Given the description of an element on the screen output the (x, y) to click on. 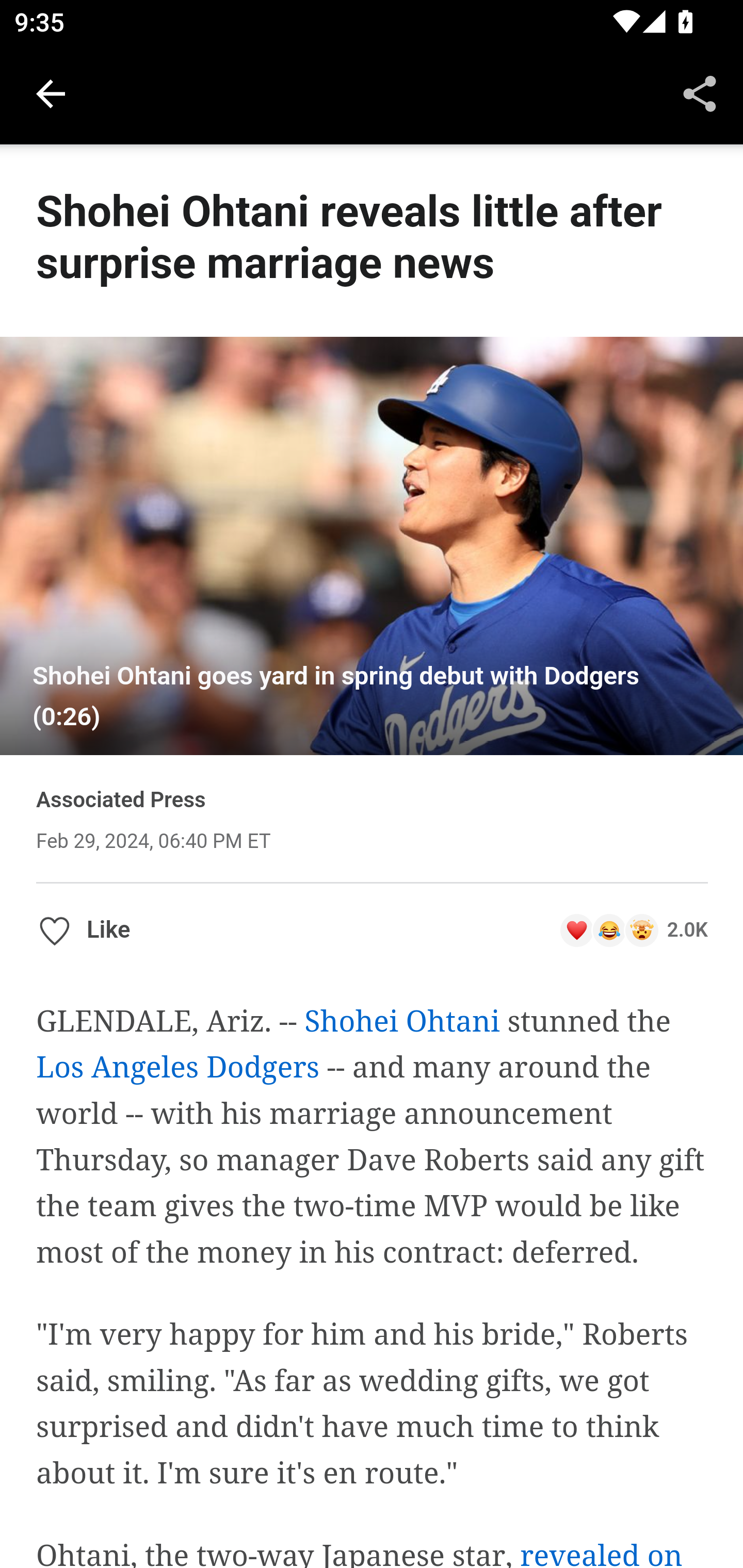
Navigate up (50, 93)
Share (699, 93)
